Given the description of an element on the screen output the (x, y) to click on. 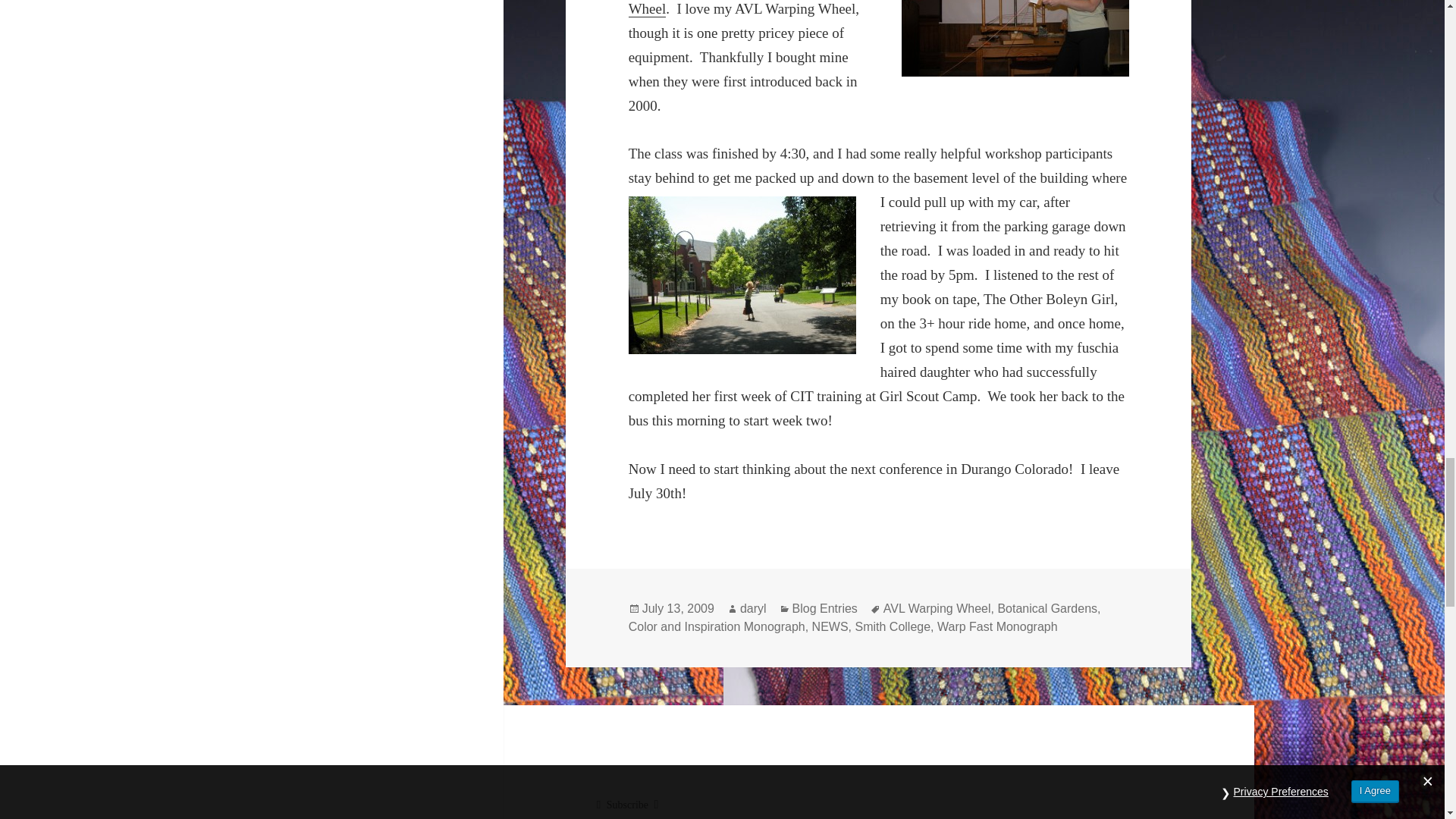
AVL Warping Wheel (743, 8)
